Given the description of an element on the screen output the (x, y) to click on. 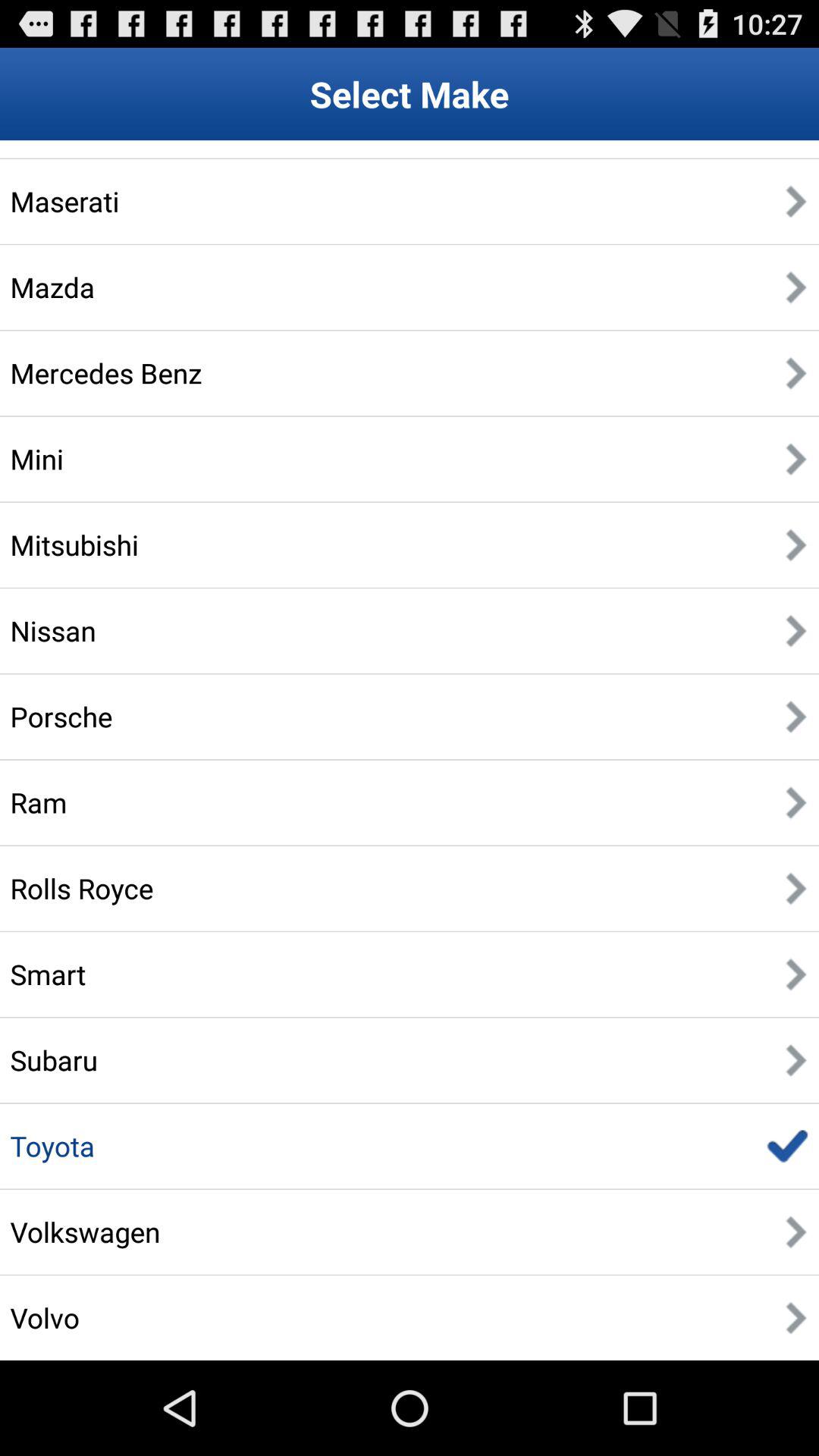
turn on smart item (47, 974)
